Given the description of an element on the screen output the (x, y) to click on. 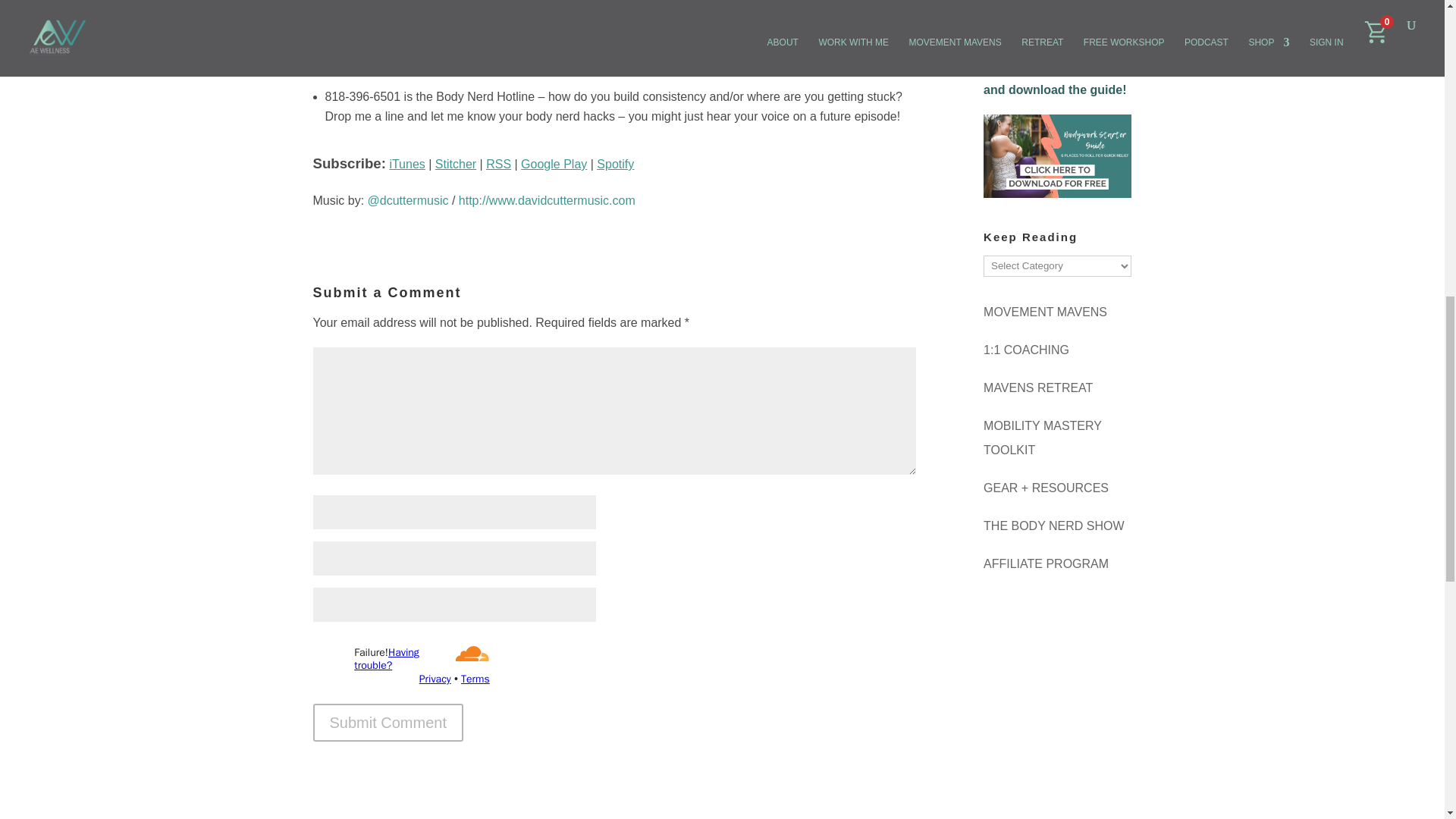
Submit Comment (388, 722)
iTunes (406, 164)
Stitcher (455, 164)
Bodywork Starter Guide (388, 29)
RSS (498, 164)
